Given the description of an element on the screen output the (x, y) to click on. 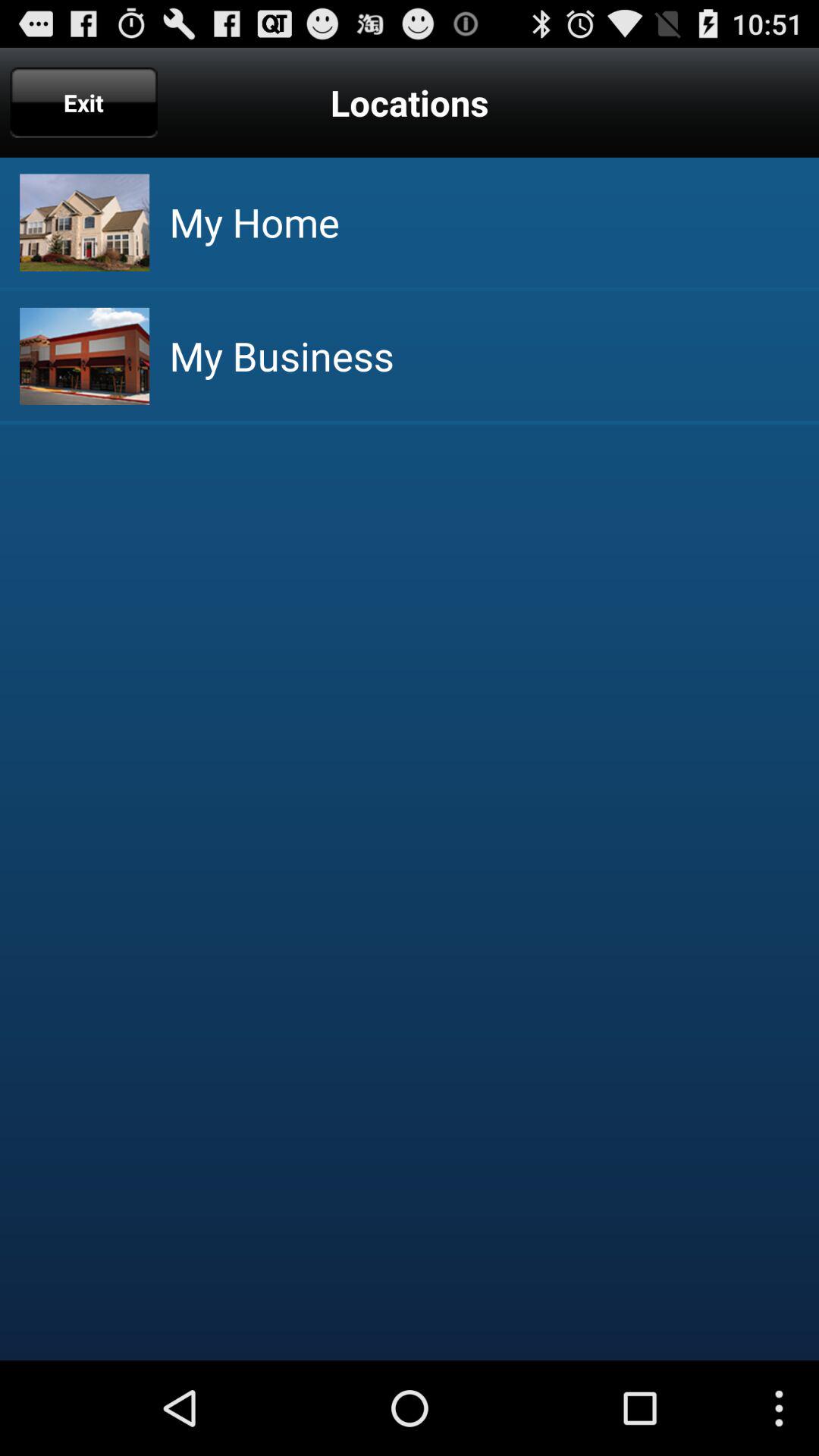
flip until my business item (281, 355)
